Given the description of an element on the screen output the (x, y) to click on. 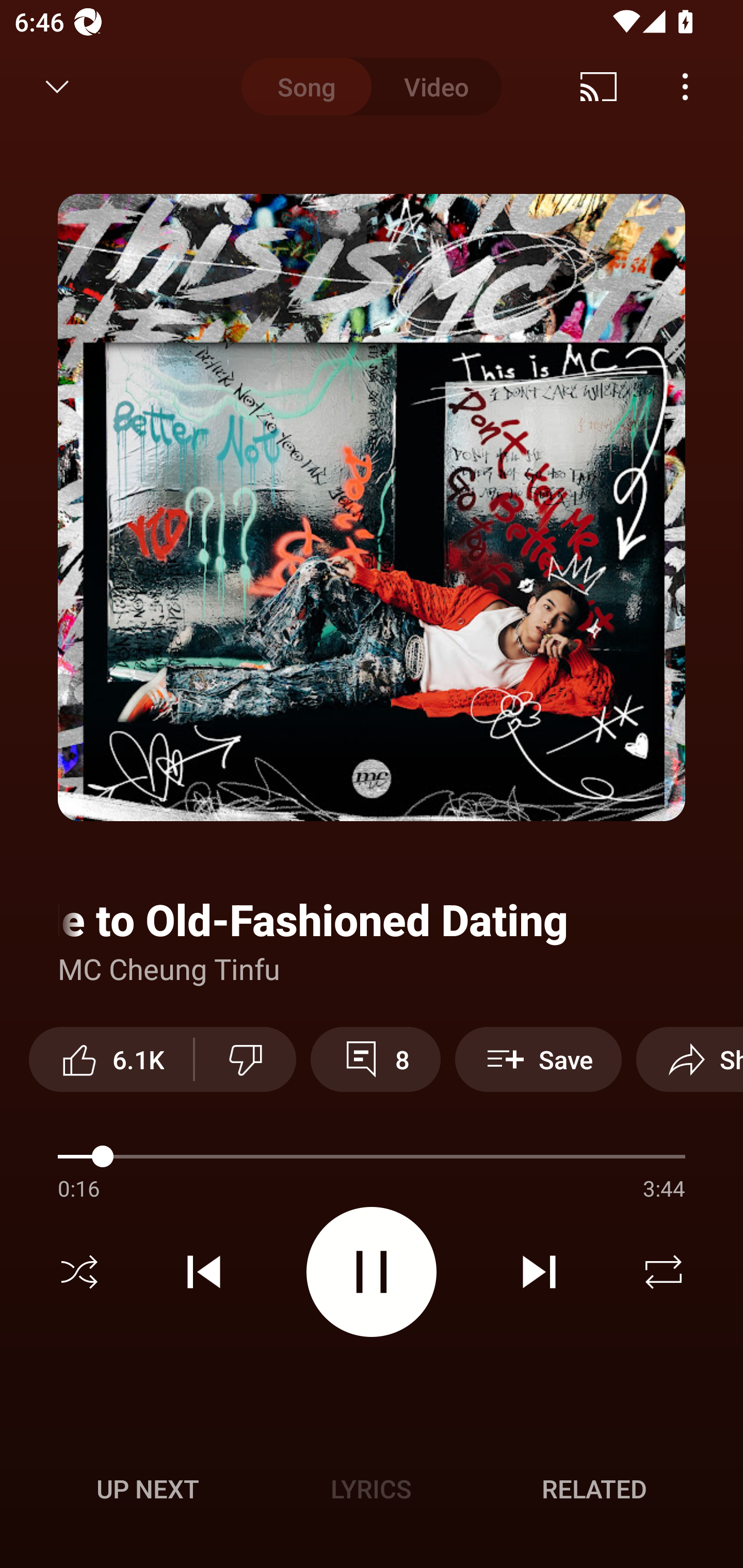
Minimize (57, 86)
Cast. Disconnected (598, 86)
Menu (684, 86)
6.1K like this video along with 6,122 other people (110, 1059)
Dislike (245, 1059)
8 View 8 comments (375, 1059)
Save Save to playlist (537, 1059)
Share (689, 1059)
Pause video (371, 1272)
Shuffle off (79, 1272)
Previous track (203, 1272)
Next track (538, 1272)
Repeat off (663, 1272)
Up next UP NEXT Lyrics LYRICS Related RELATED (371, 1491)
Lyrics LYRICS (370, 1488)
Related RELATED (594, 1488)
